Given the description of an element on the screen output the (x, y) to click on. 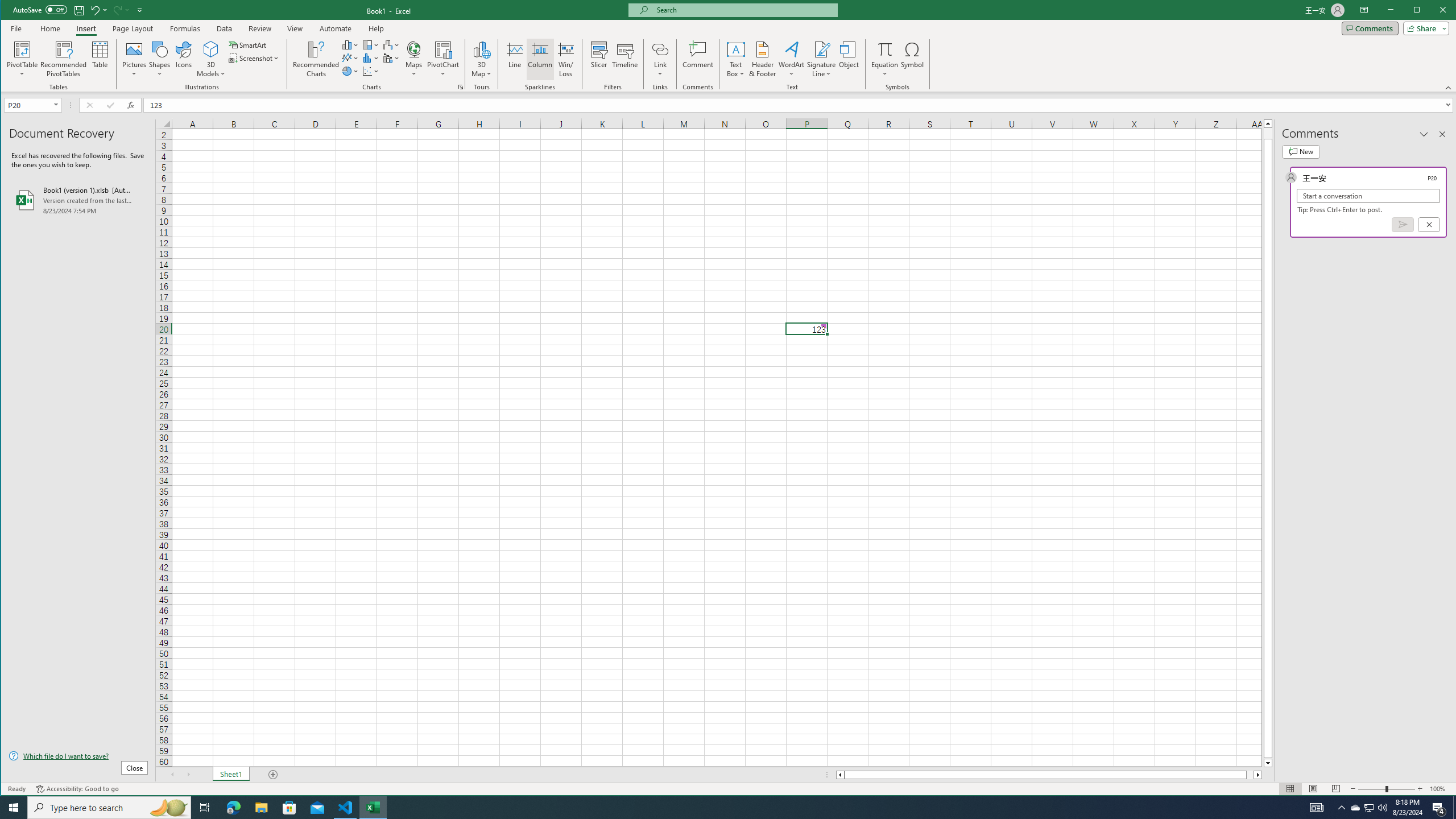
Draw Horizontal Text Box (735, 48)
SmartArt... (248, 44)
Insert Scatter (X, Y) or Bubble Chart (371, 70)
Insert Combo Chart (391, 57)
Show desktop (1454, 807)
Type here to search (108, 807)
Signature Line (821, 59)
Cancel (1428, 224)
